Given the description of an element on the screen output the (x, y) to click on. 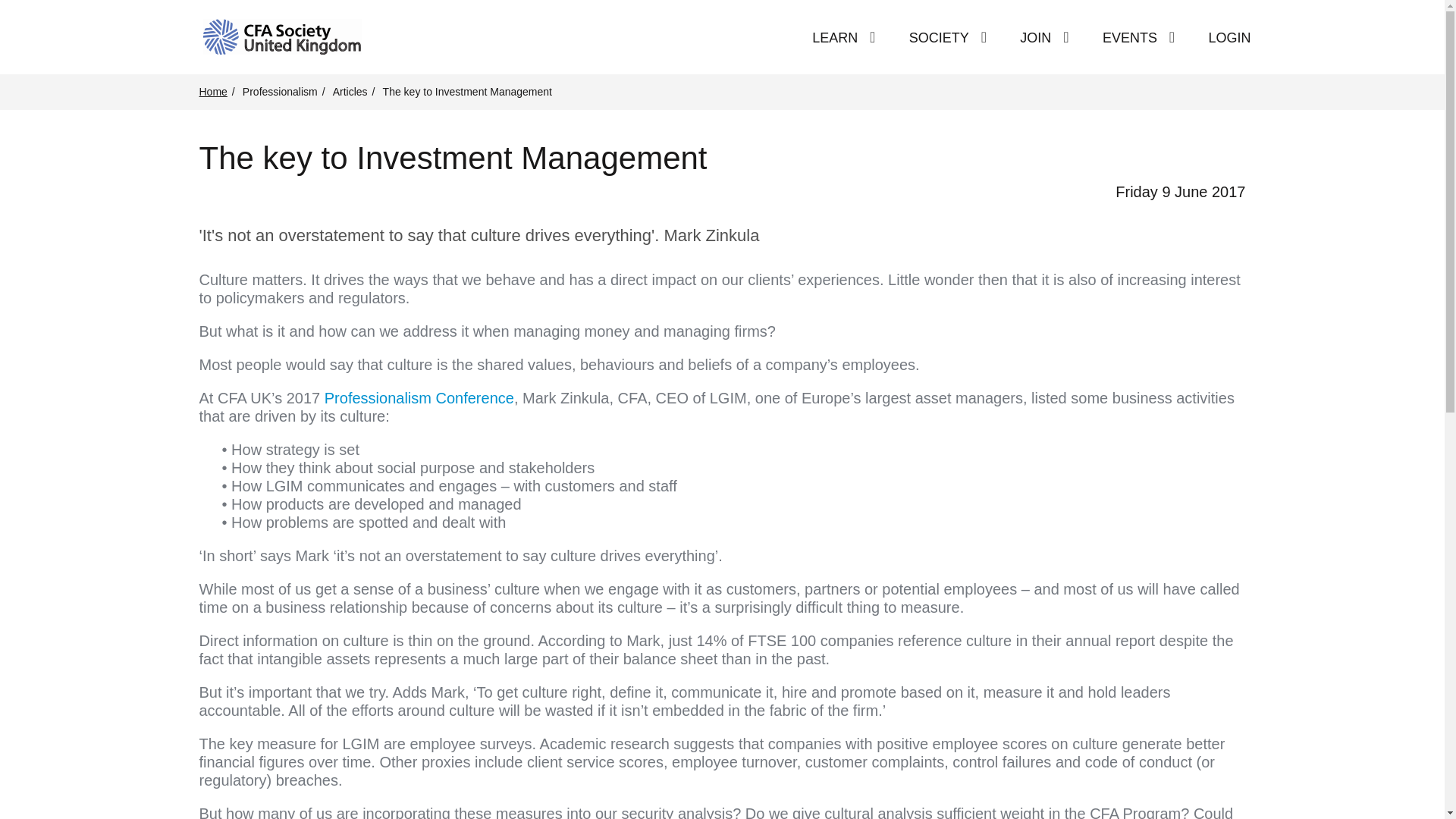
LEARN (834, 37)
SOCIETY (938, 37)
